Given the description of an element on the screen output the (x, y) to click on. 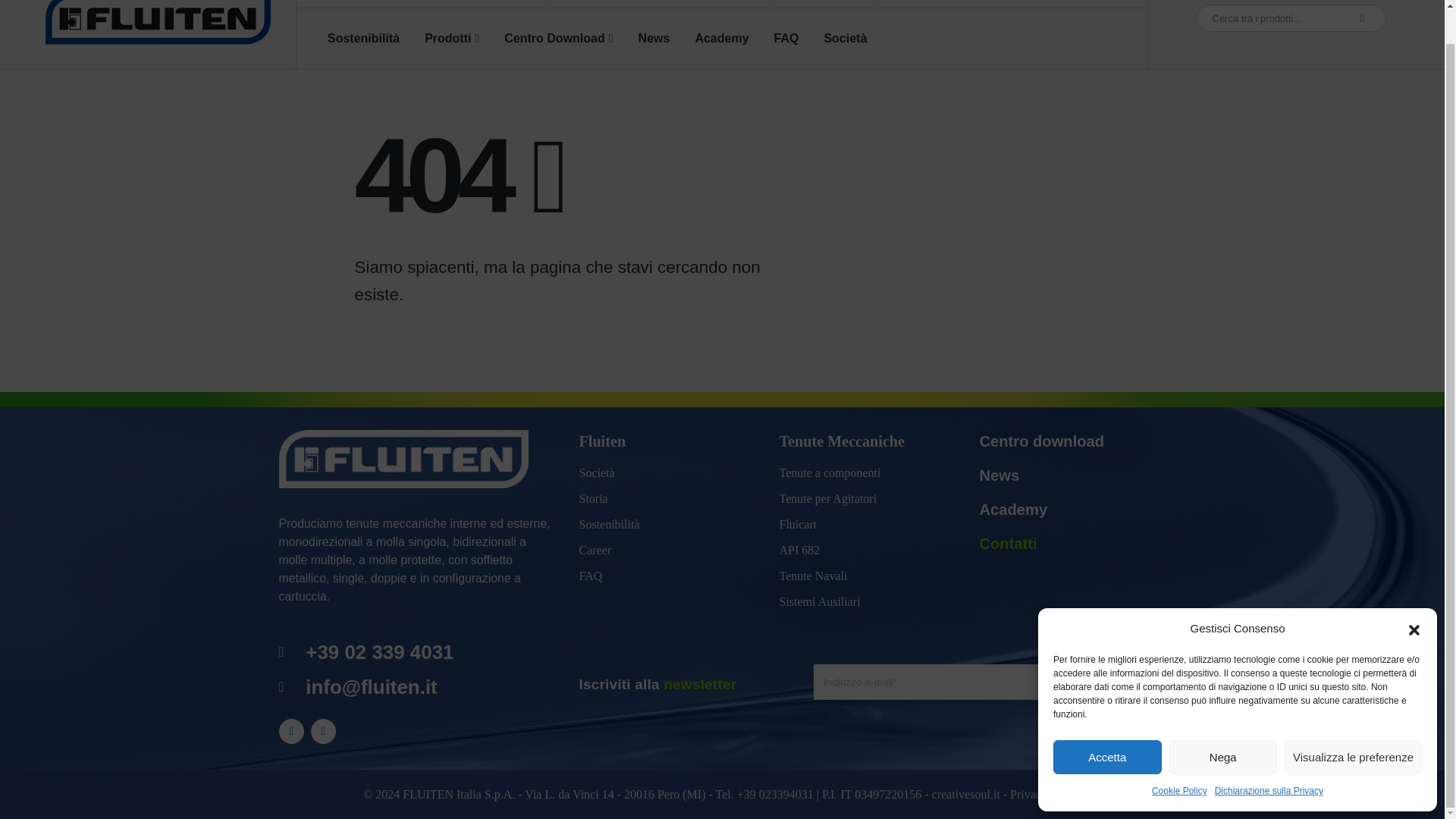
Accetta (1106, 722)
Global Partner (626, 0)
Ricerca (1361, 17)
Visualizza le preferenze (1353, 722)
Prodotti (452, 38)
Youtube (291, 731)
LinkedIn (323, 731)
ISCRIVITI (1116, 682)
Cookie Policy (1179, 755)
Nega (1223, 722)
